Given the description of an element on the screen output the (x, y) to click on. 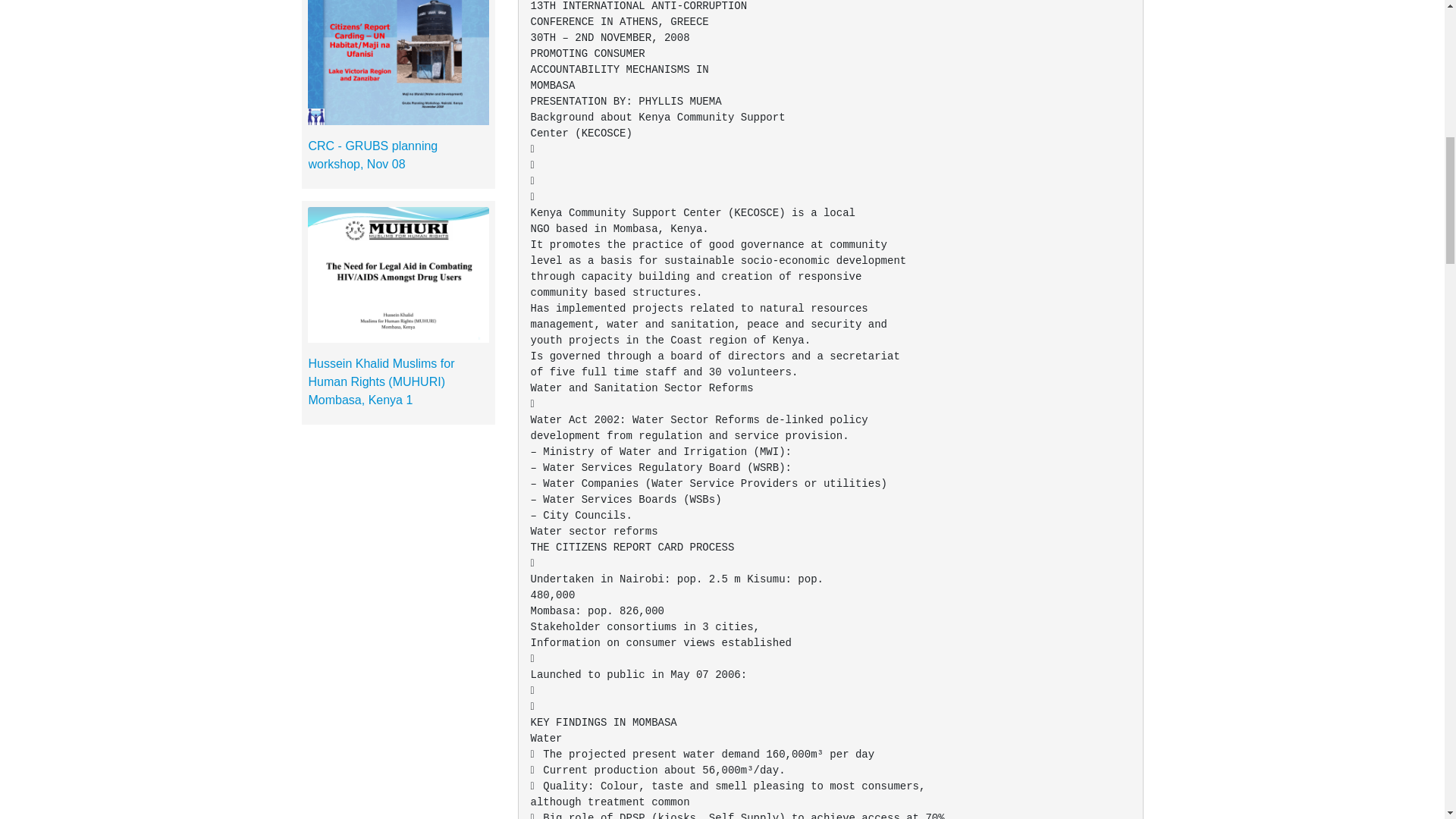
CRC - GRUBS planning workshop, Nov 08 (372, 154)
